Given the description of an element on the screen output the (x, y) to click on. 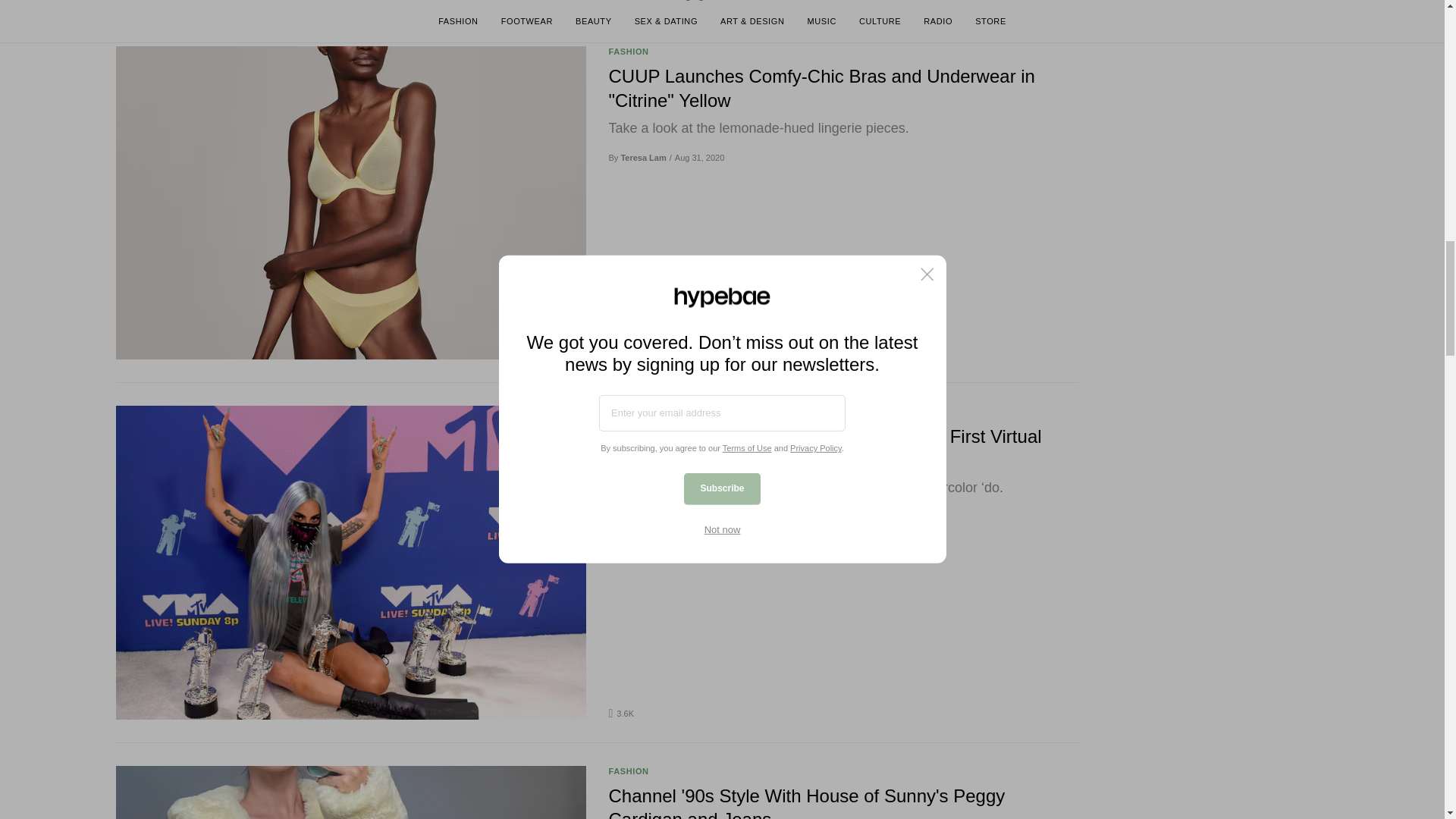
Music (622, 410)
Fashion (627, 50)
